Given the description of an element on the screen output the (x, y) to click on. 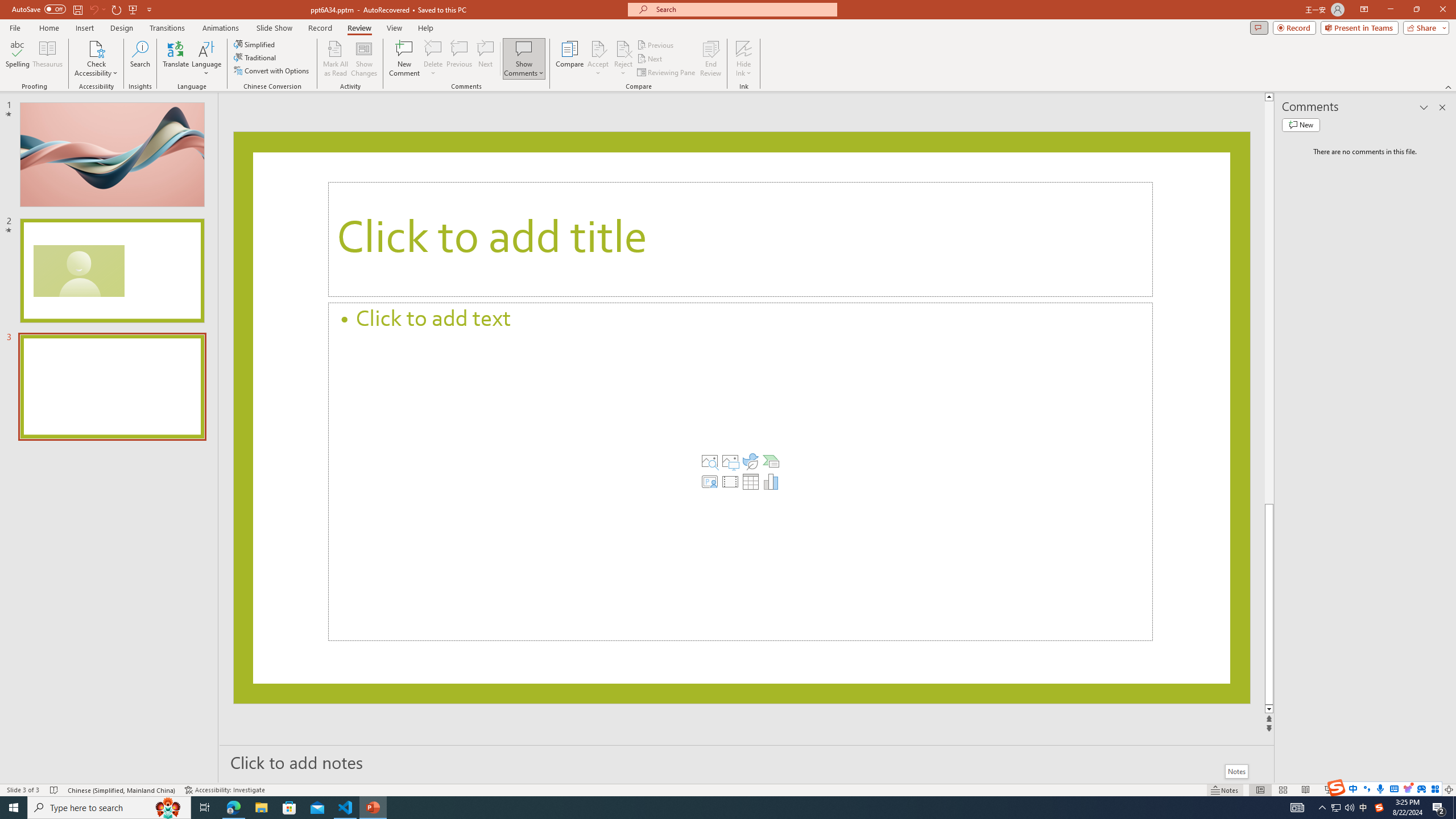
Thesaurus... (47, 58)
Accept Change (598, 48)
New comment (1300, 124)
Translate (175, 58)
Simplified (254, 44)
